Given the description of an element on the screen output the (x, y) to click on. 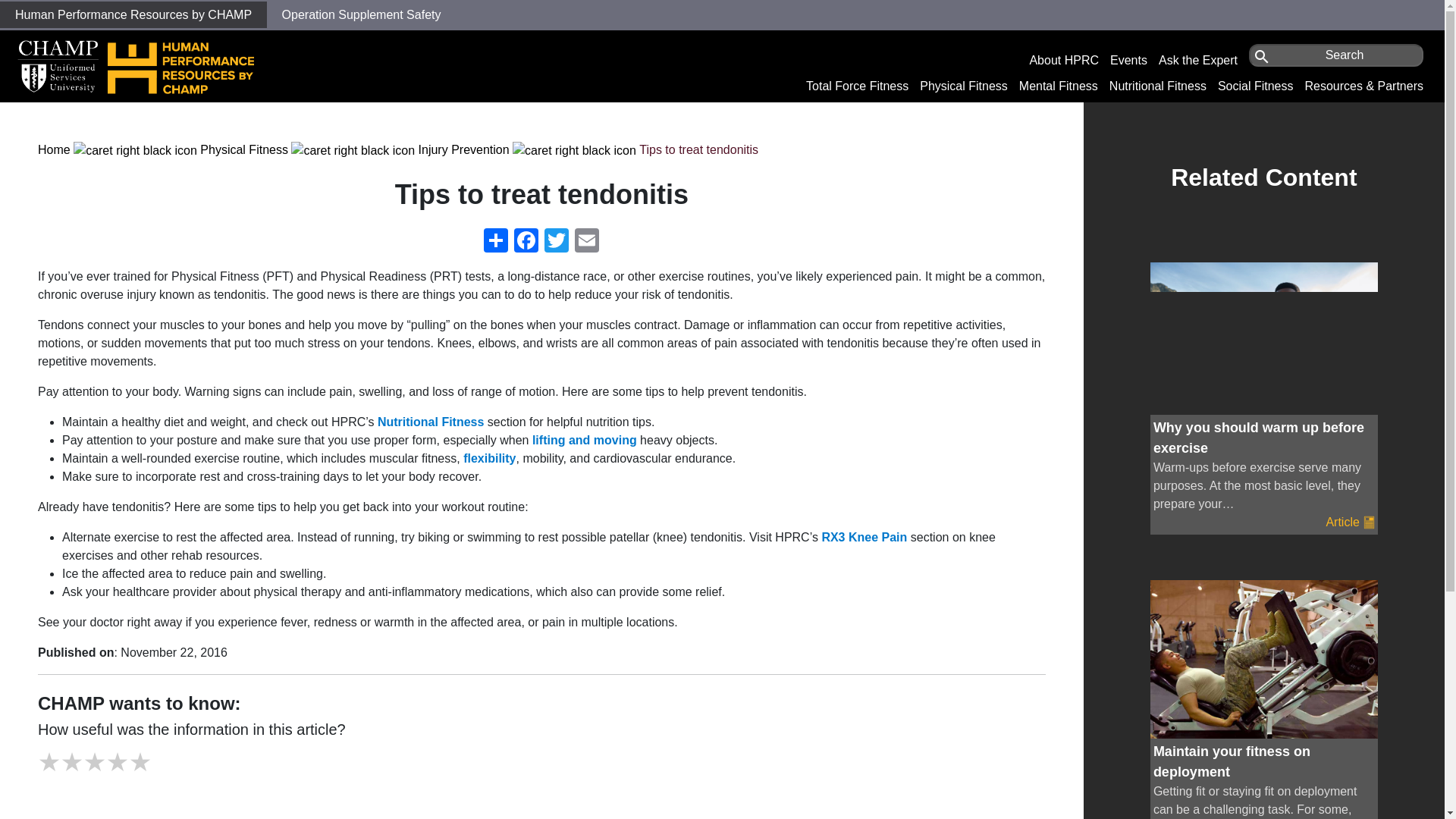
Human Performance Resources by CHAMP (133, 14)
search icon (1261, 56)
Events (1128, 60)
Operation Supplement Safety (361, 14)
Ask the Expert (1197, 60)
